Given the description of an element on the screen output the (x, y) to click on. 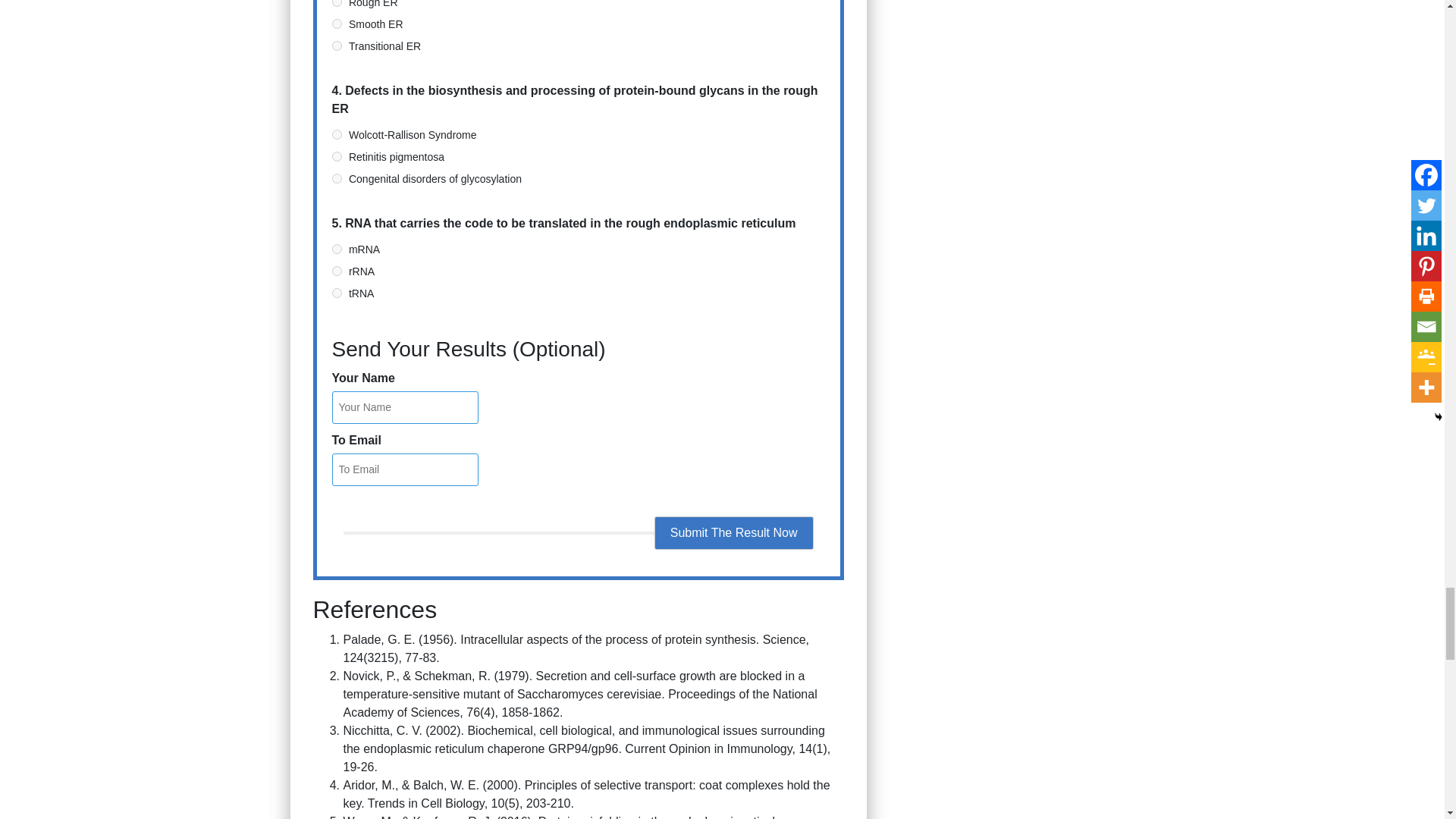
0 (336, 248)
Submit The Result Now (733, 532)
2 (336, 178)
1 (336, 156)
1 (336, 23)
0 (336, 134)
2 (336, 293)
2 (336, 45)
1 (336, 271)
0 (336, 3)
